Given the description of an element on the screen output the (x, y) to click on. 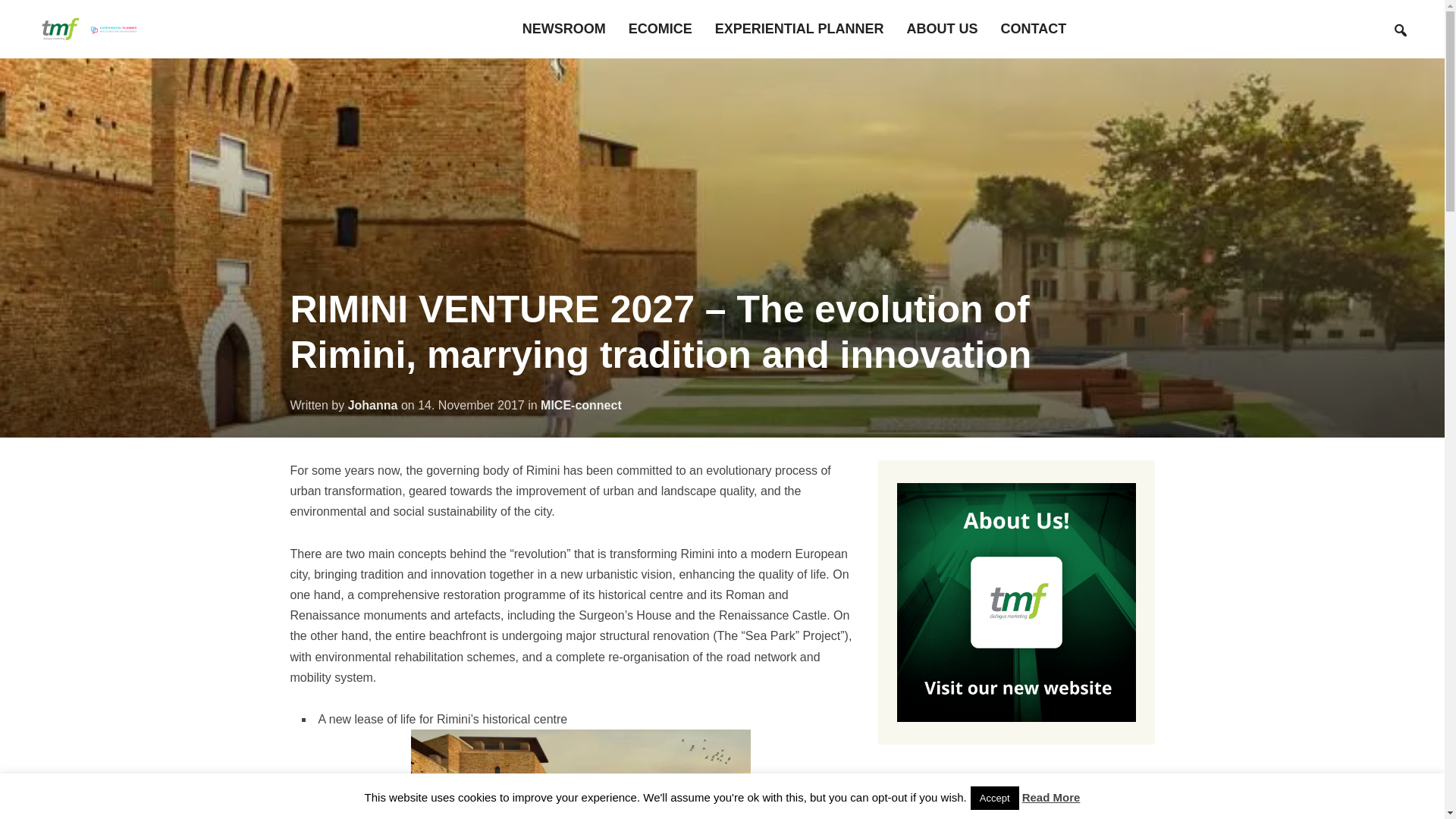
MICE-connect (580, 404)
ABOUT US (942, 29)
Johanna (372, 404)
Search (1400, 30)
Posts by Johanna (372, 404)
NEWSROOM (563, 29)
CONTACT (1034, 29)
EXPERIENTIAL PLANNER (798, 29)
ECOMICE (660, 29)
